Given the description of an element on the screen output the (x, y) to click on. 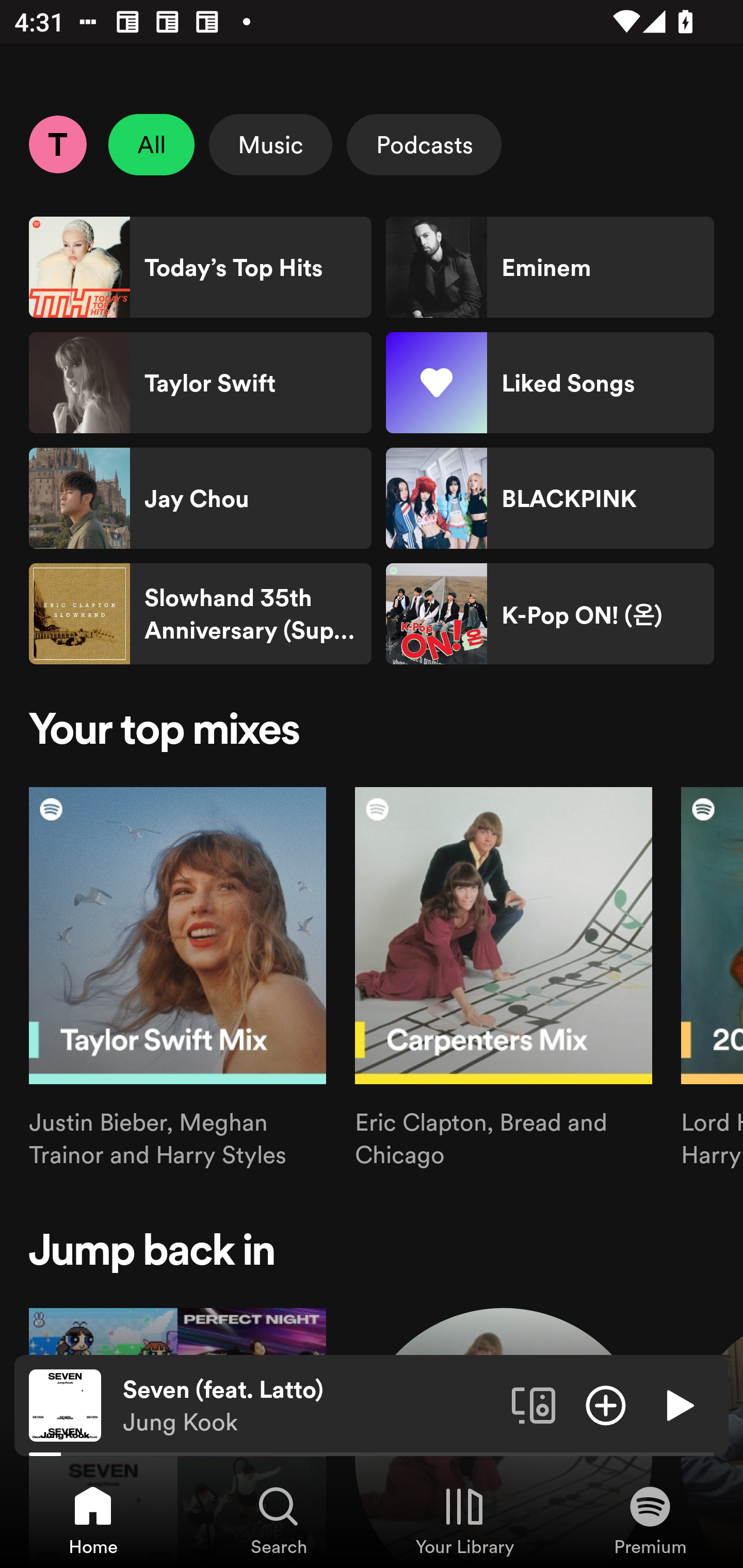
Profile (57, 144)
All Unselect All (151, 144)
Music Select Music (270, 144)
Podcasts Select Podcasts (423, 144)
Today’s Top Hits Shortcut Today’s Top Hits (199, 267)
Eminem Shortcut Eminem (549, 267)
Taylor Swift Shortcut Taylor Swift (199, 382)
Liked Songs Shortcut Liked Songs (549, 382)
Jay Chou Shortcut Jay Chou (199, 498)
BLACKPINK Shortcut BLACKPINK (549, 498)
K-Pop ON! (온) Shortcut K-Pop ON! (온) (549, 613)
Seven (feat. Latto) Jung Kook (309, 1405)
The cover art of the currently playing track (64, 1404)
Connect to a device. Opens the devices menu (533, 1404)
Add item (605, 1404)
Play (677, 1404)
Home, Tab 1 of 4 Home Home (92, 1519)
Search, Tab 2 of 4 Search Search (278, 1519)
Your Library, Tab 3 of 4 Your Library Your Library (464, 1519)
Premium, Tab 4 of 4 Premium Premium (650, 1519)
